Given the description of an element on the screen output the (x, y) to click on. 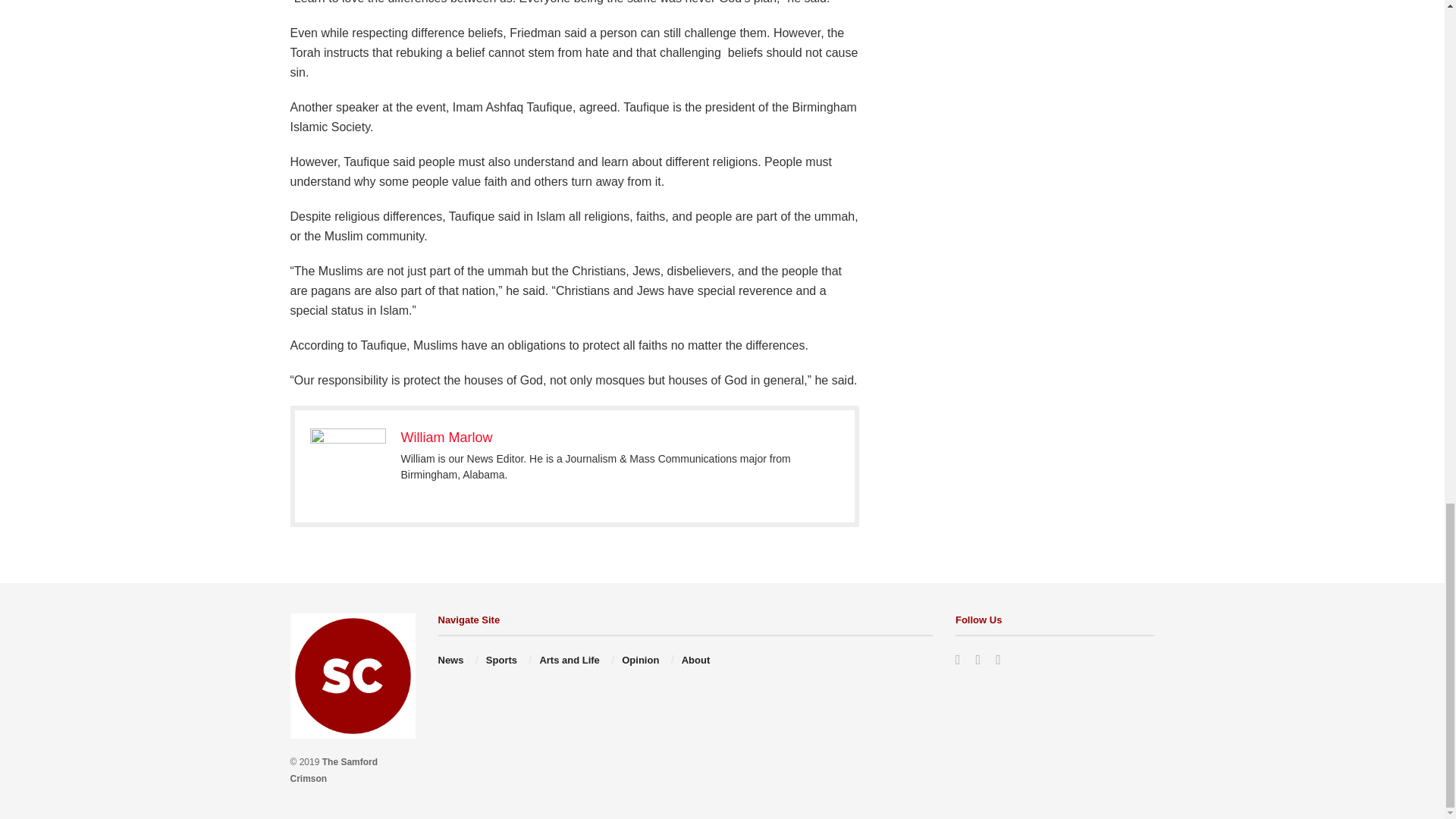
William Marlow (446, 437)
